Given the description of an element on the screen output the (x, y) to click on. 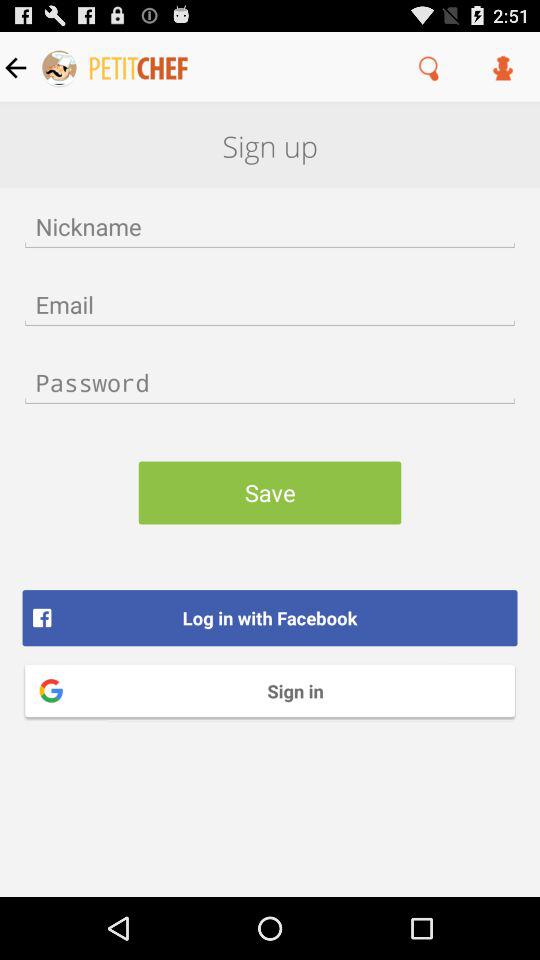
select the item above the sign in icon (269, 617)
